Given the description of an element on the screen output the (x, y) to click on. 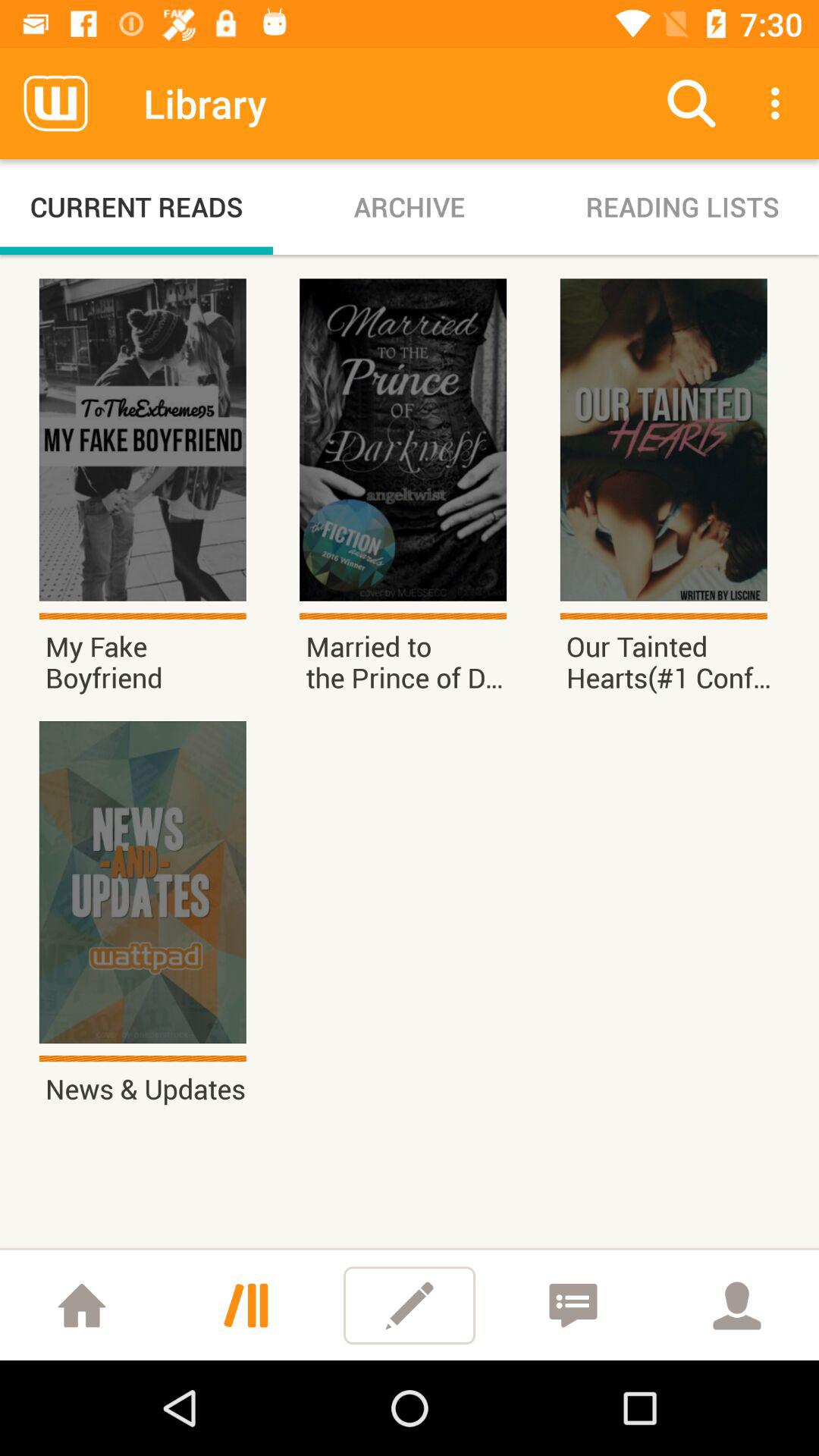
tap the archive (409, 206)
